Given the description of an element on the screen output the (x, y) to click on. 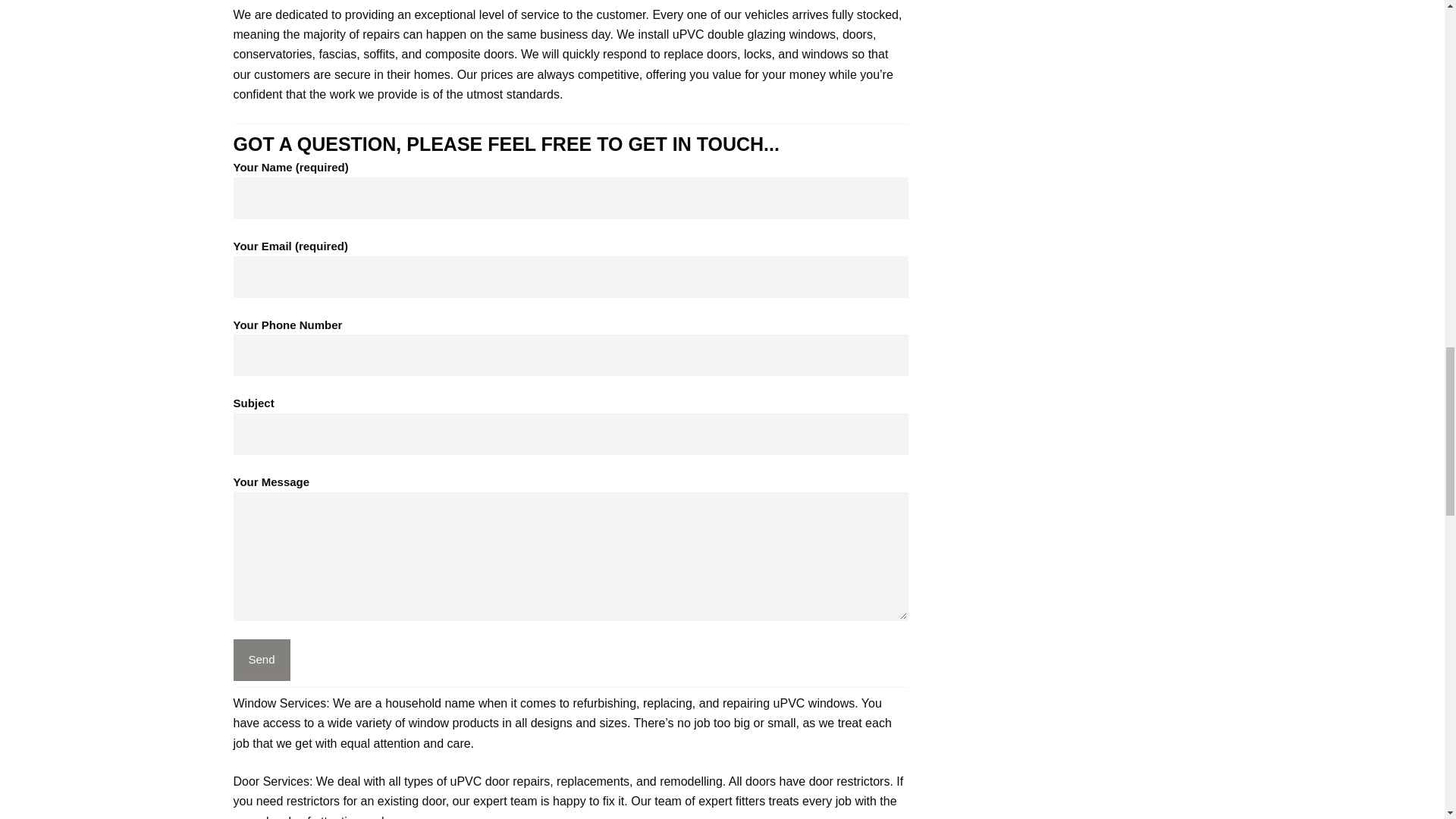
Send (260, 659)
